Given the description of an element on the screen output the (x, y) to click on. 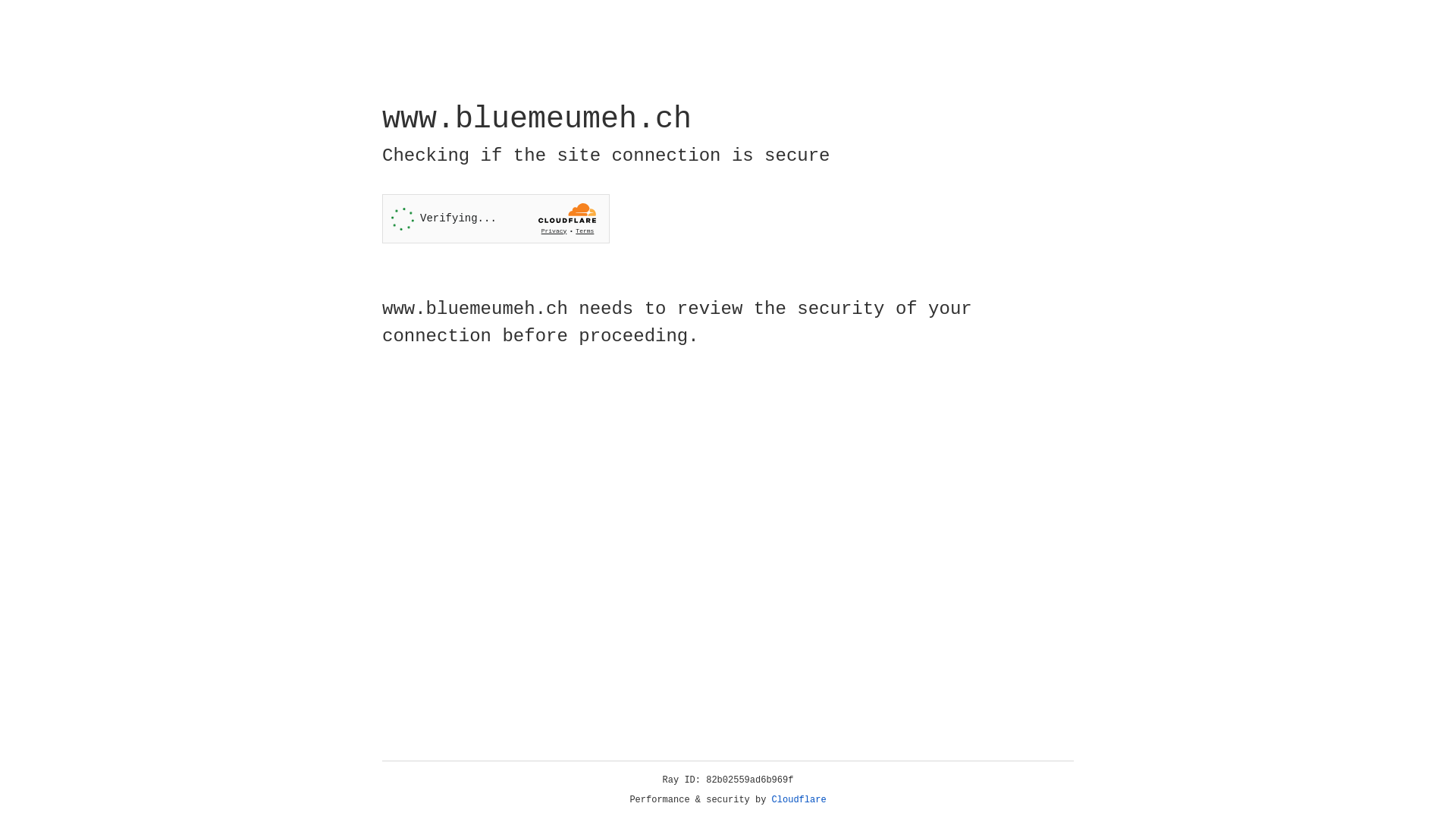
Widget containing a Cloudflare security challenge Element type: hover (495, 218)
Cloudflare Element type: text (798, 799)
